Given the description of an element on the screen output the (x, y) to click on. 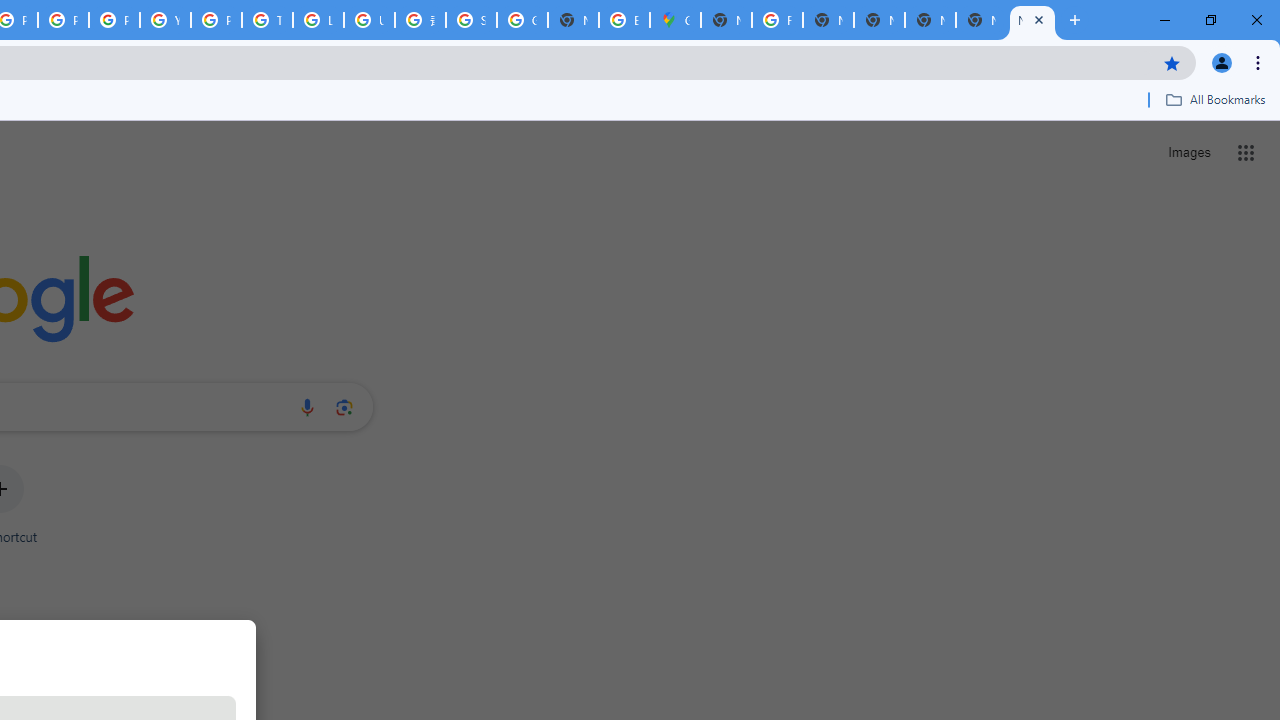
YouTube (164, 20)
New Tab (726, 20)
Sign in - Google Accounts (470, 20)
